Given the description of an element on the screen output the (x, y) to click on. 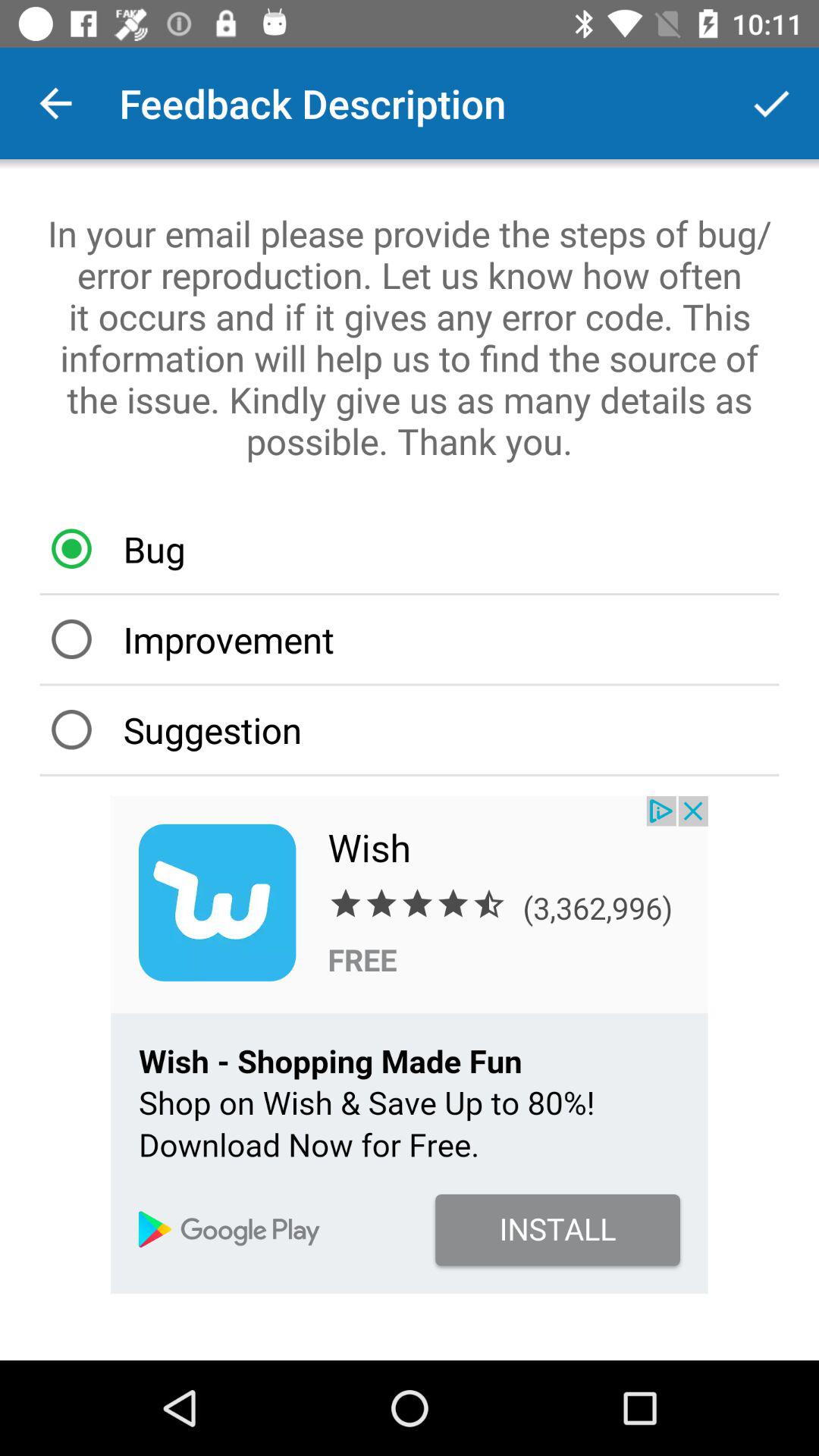
go to advertisement (409, 1044)
